Given the description of an element on the screen output the (x, y) to click on. 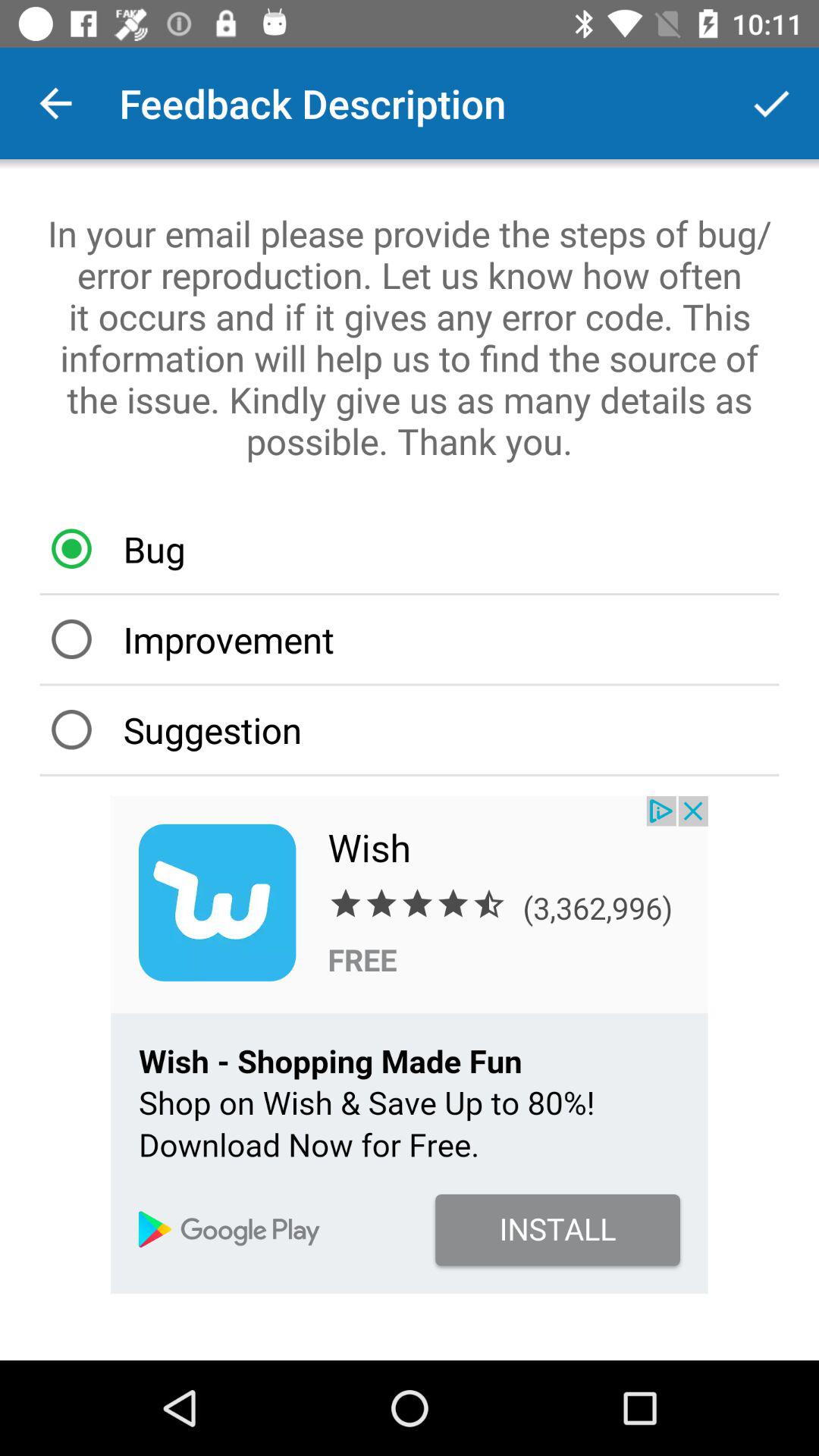
go to advertisement (409, 1044)
